Given the description of an element on the screen output the (x, y) to click on. 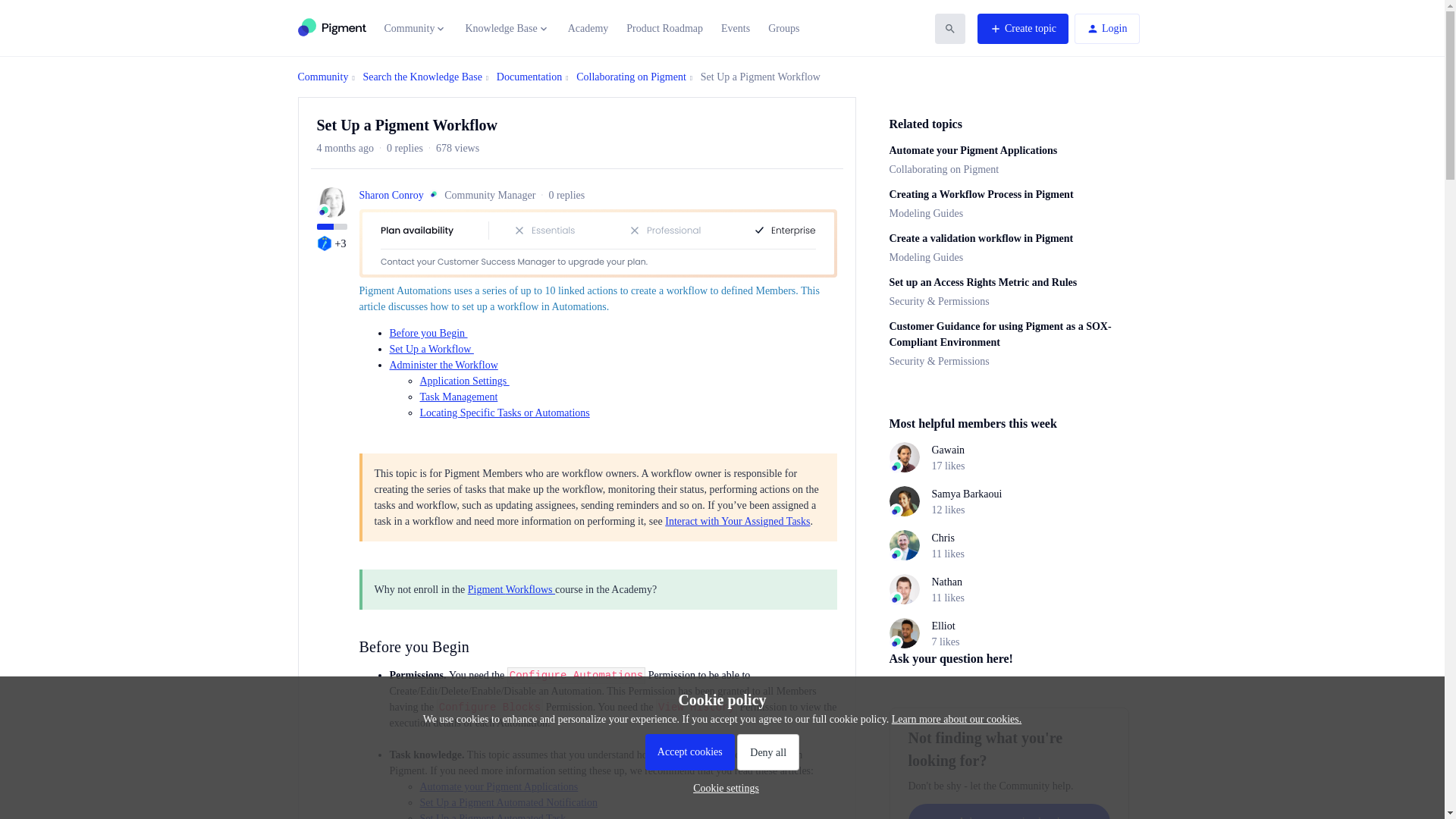
Events (734, 28)
Groups (783, 28)
Create topic (1022, 28)
Knowledge Base (506, 28)
Product Roadmap (664, 28)
Login (1106, 28)
Academy (587, 28)
Community (415, 28)
